Given the description of an element on the screen output the (x, y) to click on. 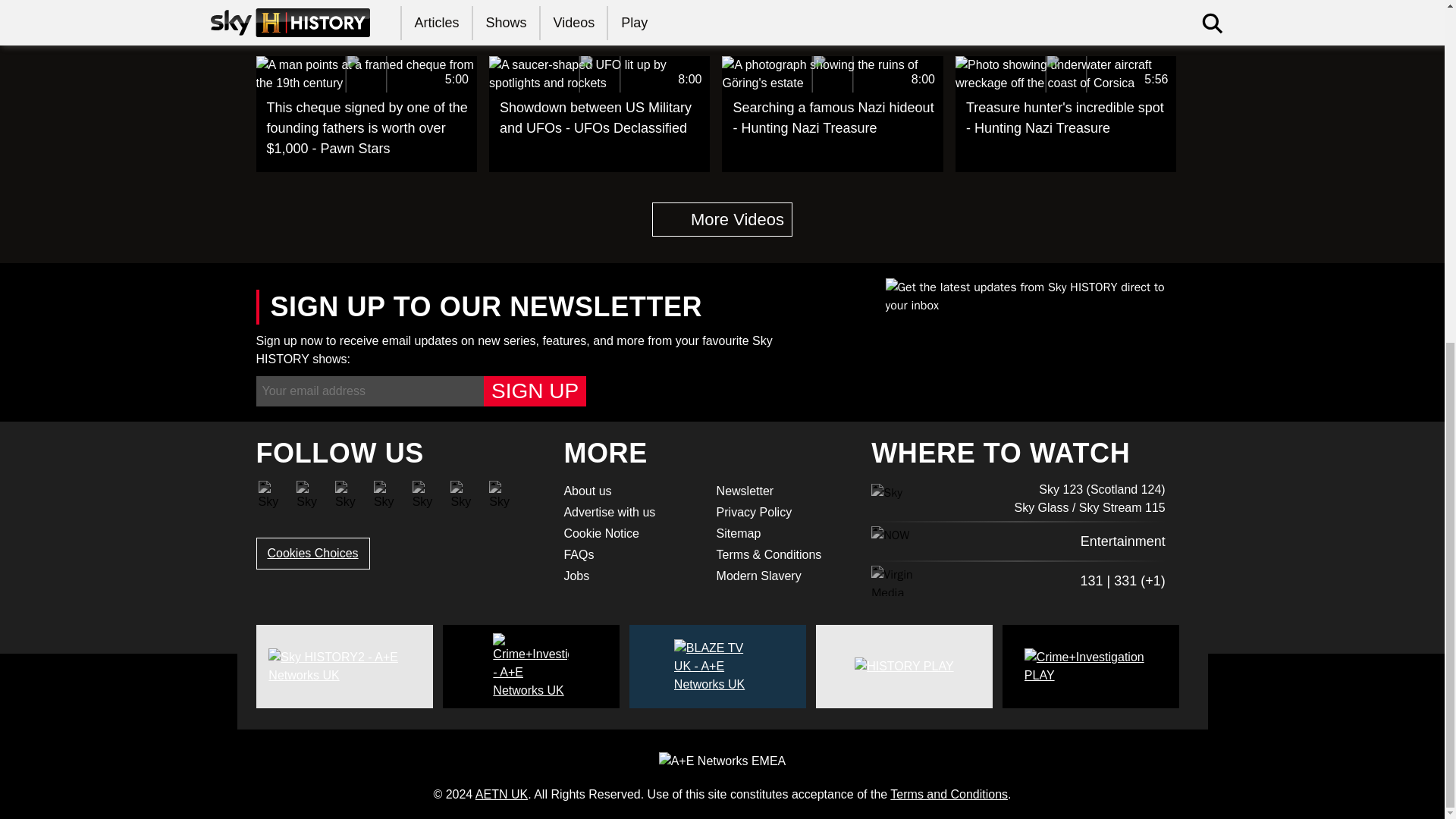
About us (630, 491)
Cookies Choices (832, 113)
Cookie Notice (312, 553)
Sitemap of the site (630, 533)
Newsletter (783, 533)
Go to next page (783, 491)
More Videos (722, 219)
Privacy Policy (722, 219)
